Given the description of an element on the screen output the (x, y) to click on. 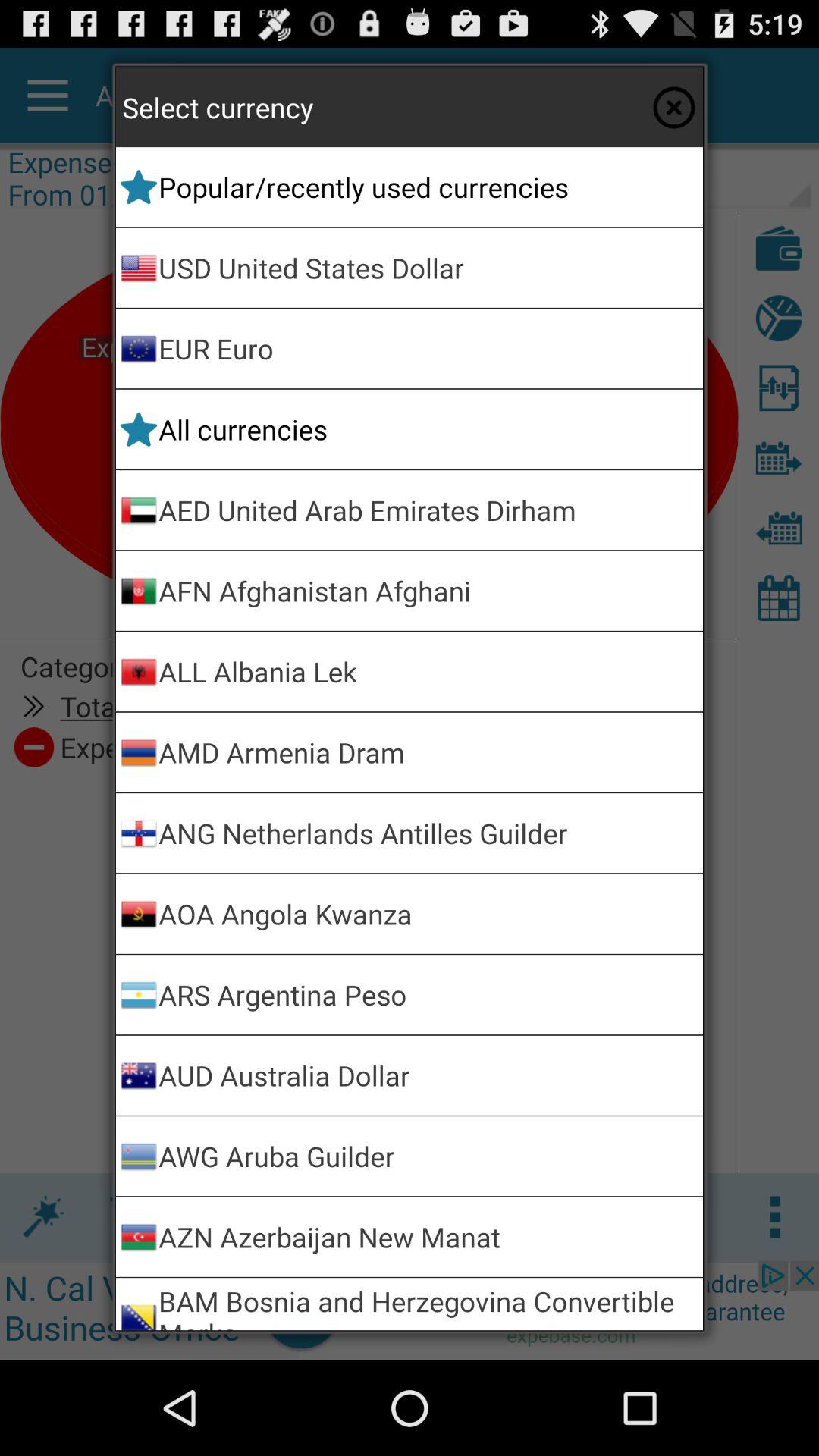
close the currency selector (673, 107)
